Given the description of an element on the screen output the (x, y) to click on. 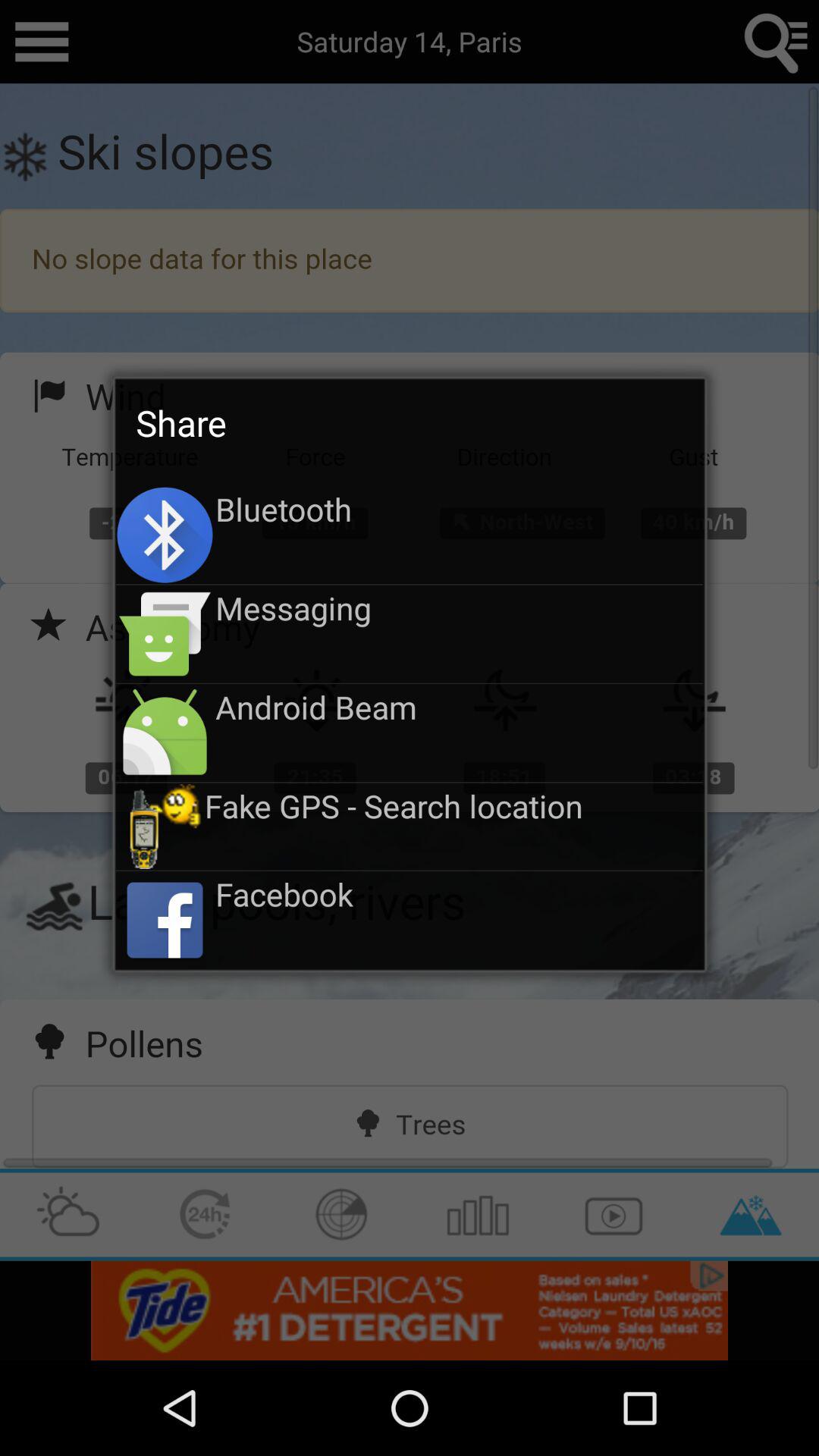
turn on messaging (458, 607)
